Given the description of an element on the screen output the (x, y) to click on. 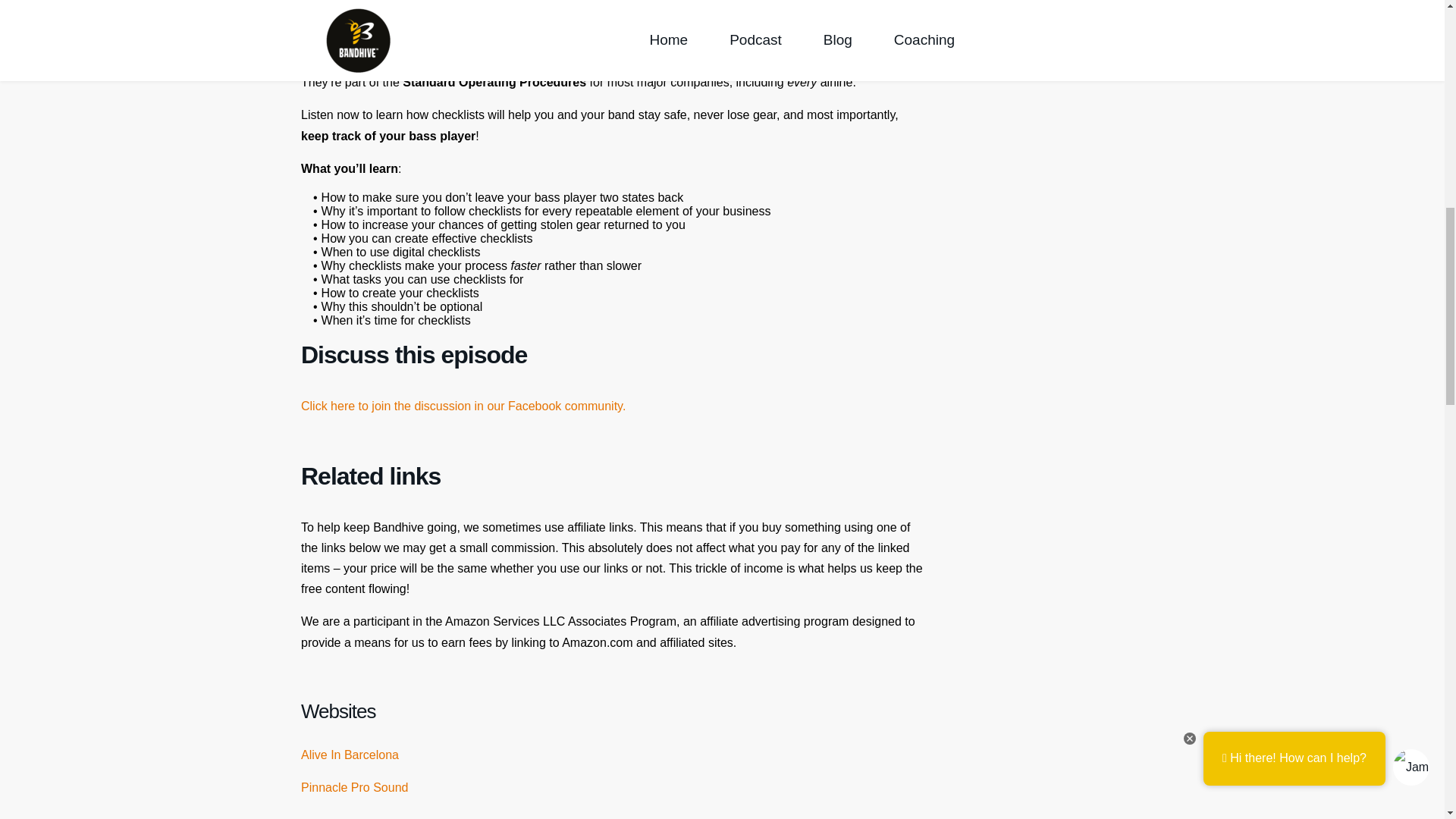
Pinnacle Pro Sound (354, 787)
Alive In Barcelona (349, 754)
Click here to join the discussion in our Facebook community. (463, 405)
